Given the description of an element on the screen output the (x, y) to click on. 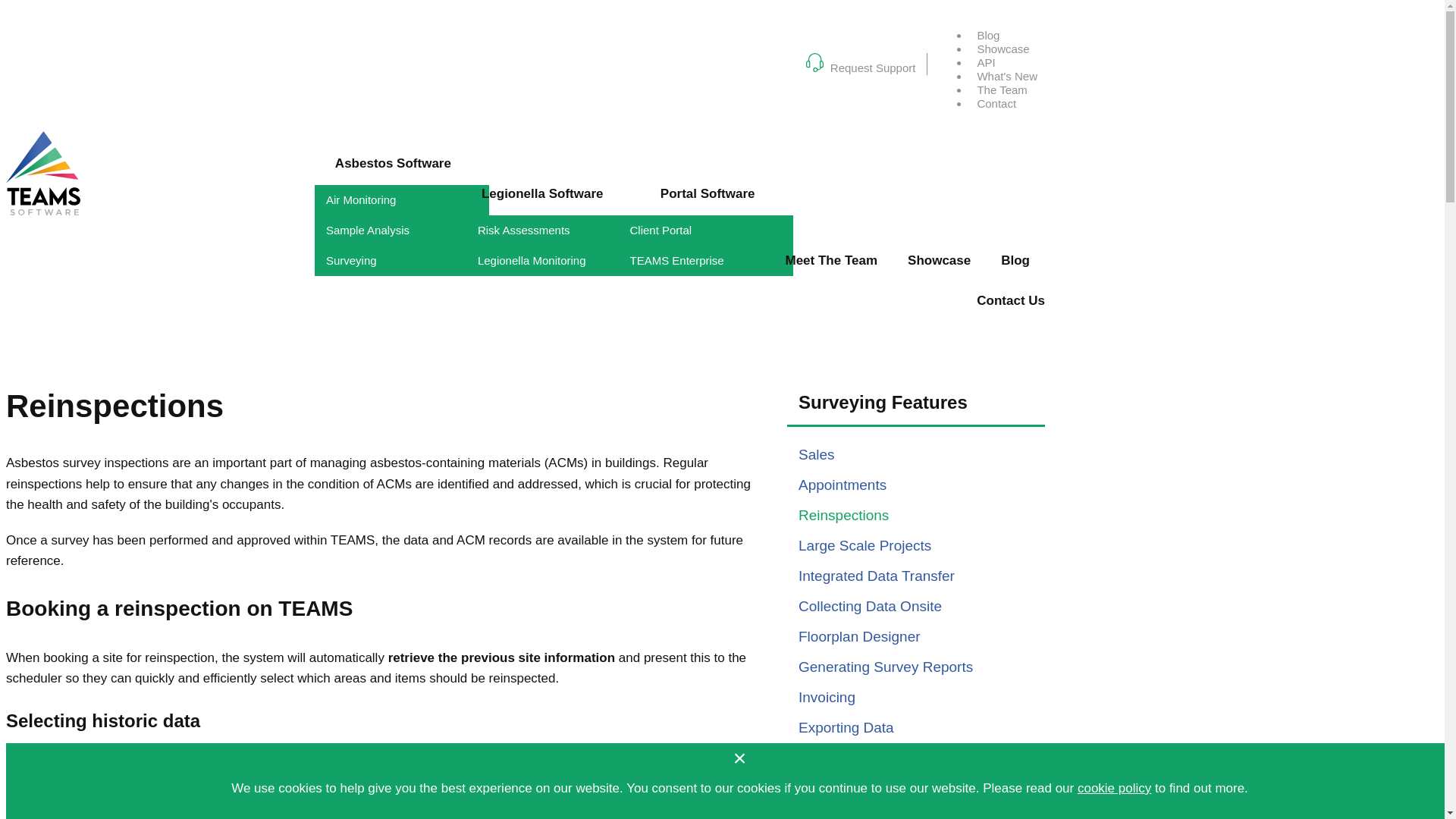
Invoicing (826, 697)
Legionella Software (542, 195)
Collecting Data Onsite (869, 606)
Integrated Data Transfer (876, 575)
Exporting Data (845, 727)
TEAMS Enterprise (705, 260)
Surveying (401, 260)
Portal Software (708, 195)
Contact Us (1010, 301)
Legionella Monitoring (553, 260)
